Given the description of an element on the screen output the (x, y) to click on. 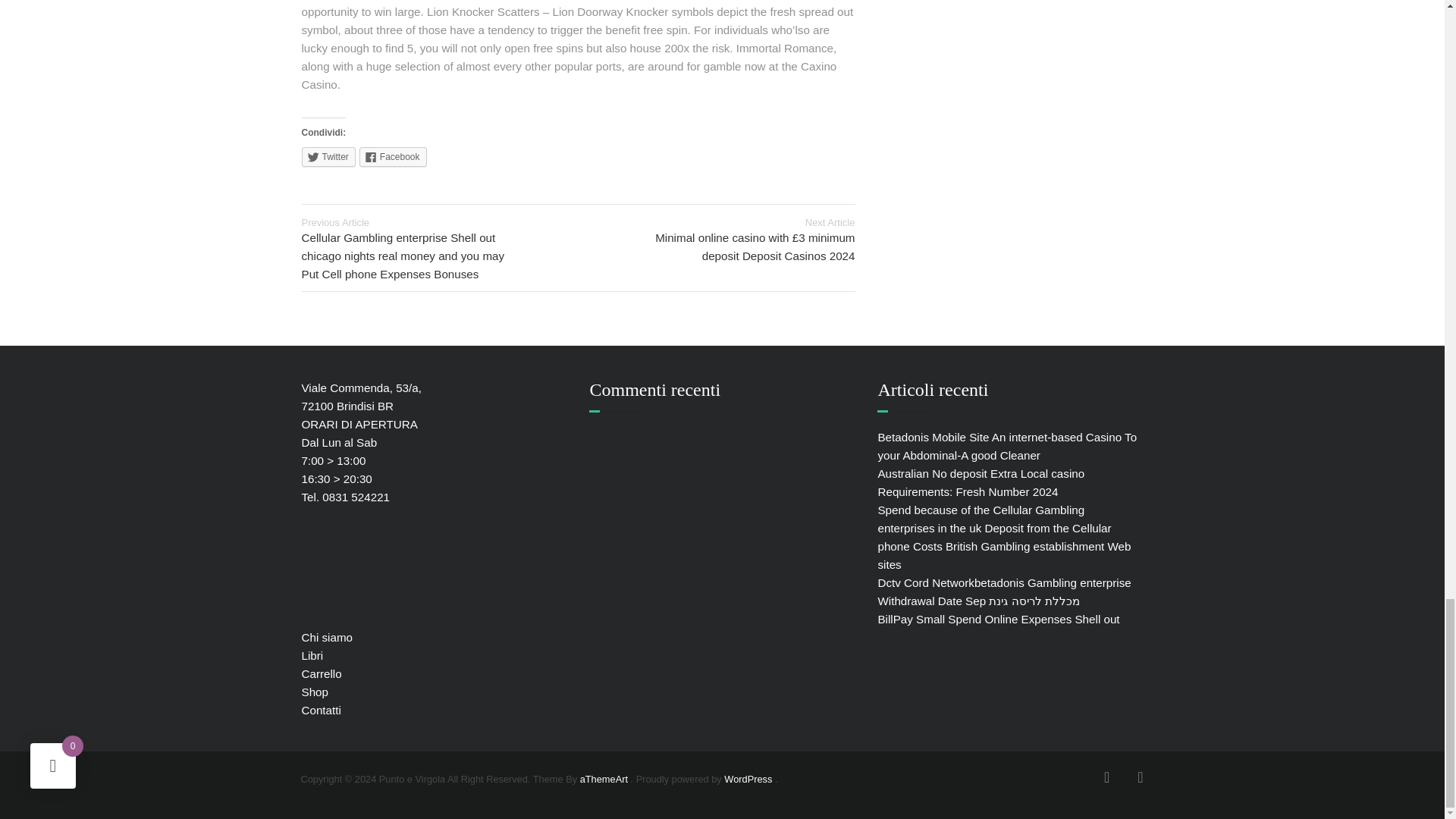
Contatti (320, 709)
Carrello (321, 673)
BillPay Small Spend Online Expenses Shell out (998, 618)
Fai clic per condividere su Facebook (392, 157)
Shop (315, 691)
aThemeArt (603, 778)
Libri (312, 655)
Fai clic qui per condividere su Twitter (328, 157)
